Given the description of an element on the screen output the (x, y) to click on. 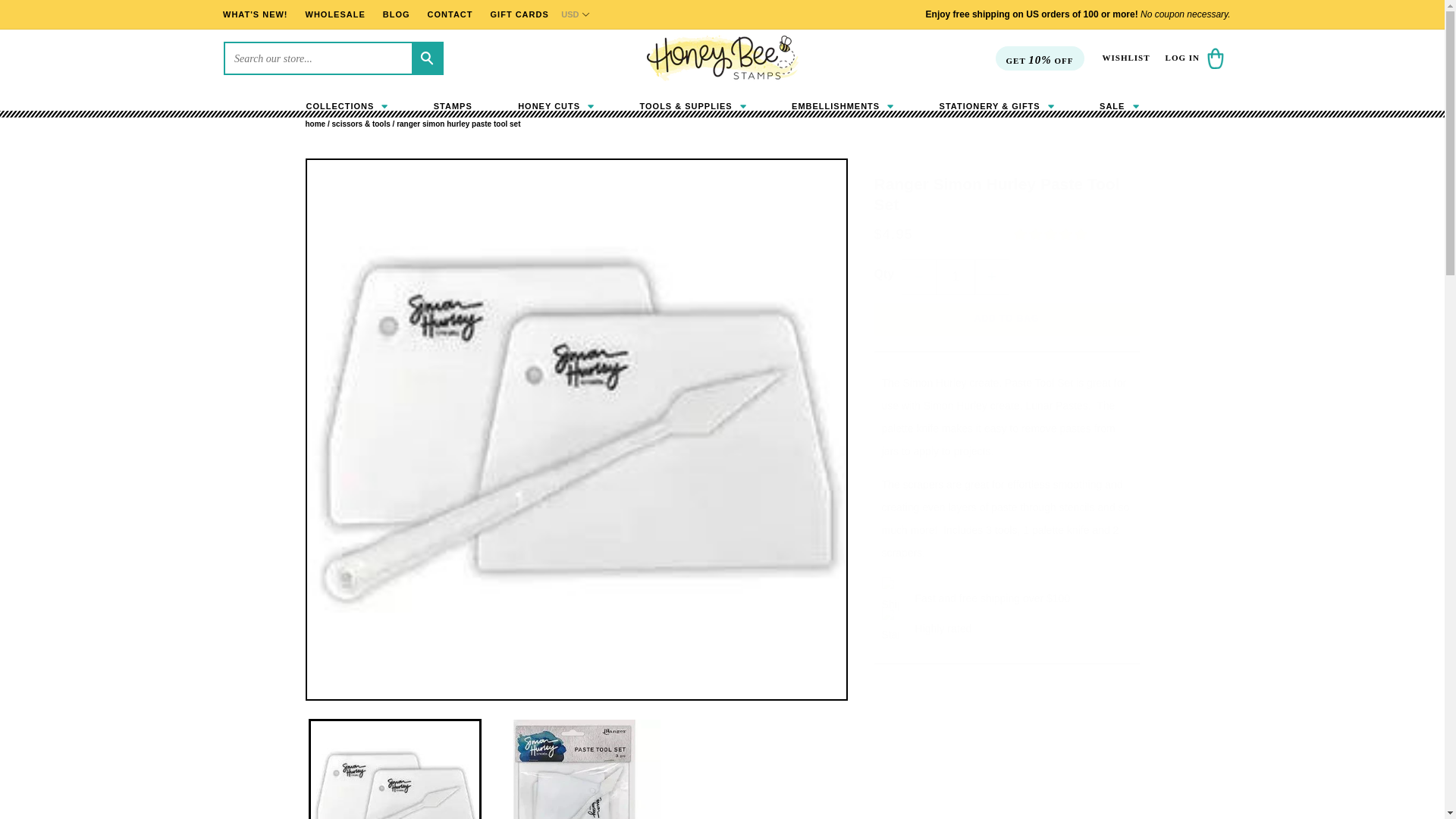
WHOLESALE (335, 14)
GIFT CARDS (519, 14)
1 (955, 276)
CONTACT (450, 14)
BLOG (396, 14)
WHAT'S NEW! (255, 14)
SKIP TO CONTENT (66, 17)
